Given the description of an element on the screen output the (x, y) to click on. 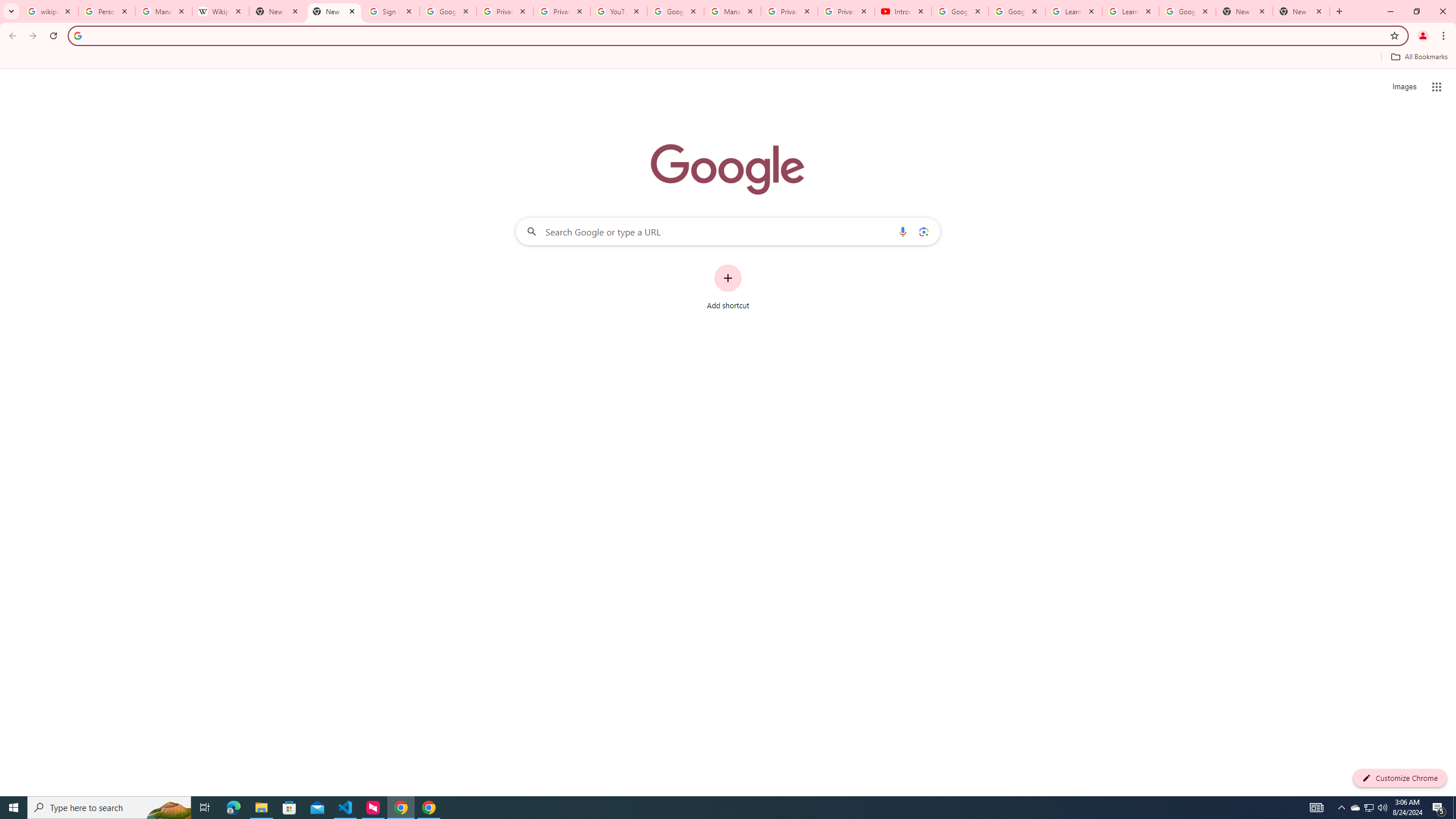
Google Account Help (675, 11)
New Tab (1301, 11)
Google Account Help (959, 11)
